Given the description of an element on the screen output the (x, y) to click on. 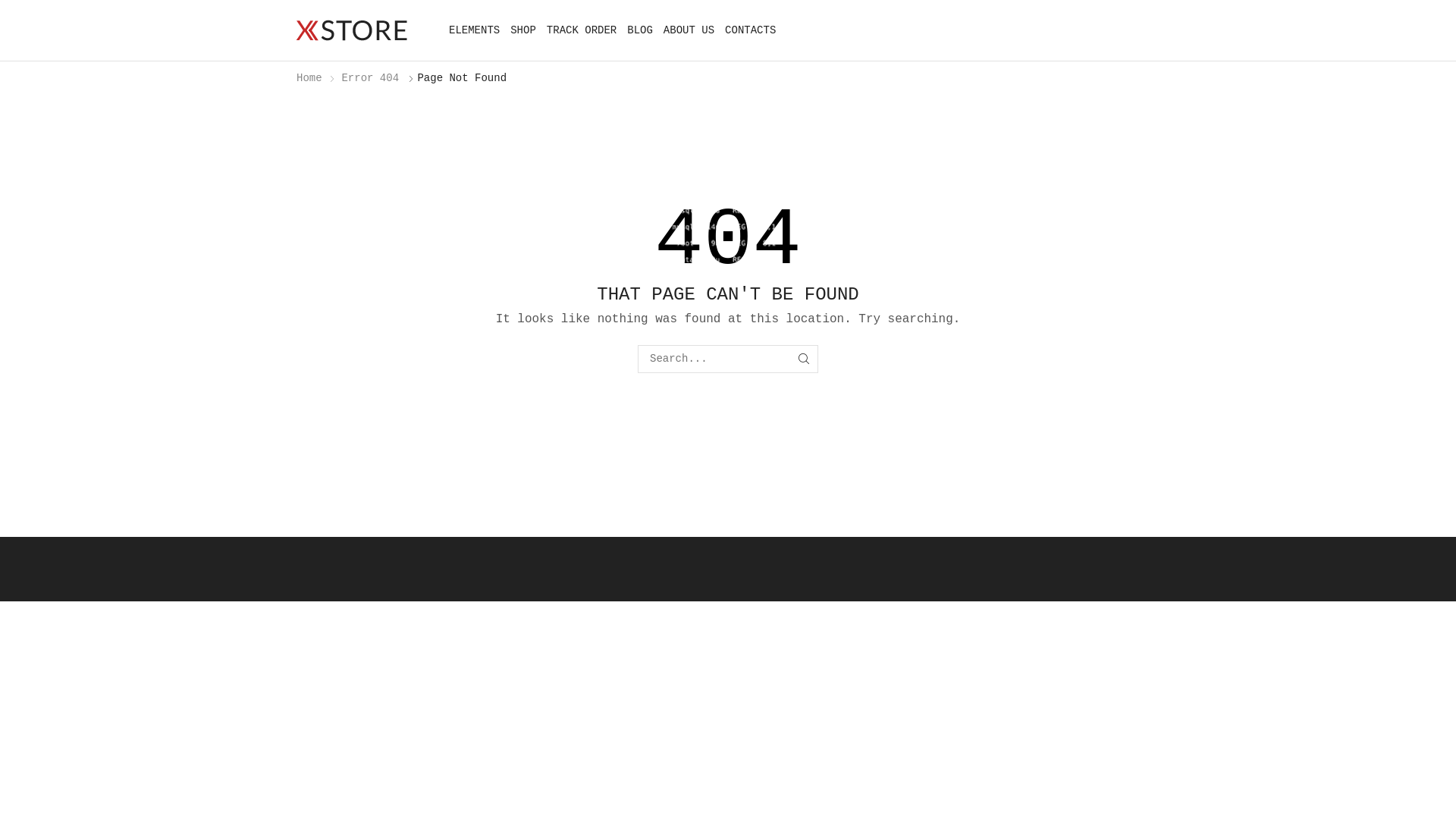
TRACK ORDER Element type: text (581, 30)
ABOUT US Element type: text (688, 30)
SEARCH Element type: text (804, 359)
ELEMENTS Element type: text (474, 30)
Home Element type: text (309, 77)
SHOP Element type: text (523, 30)
CONTACTS Element type: text (750, 30)
BLOG Element type: text (639, 30)
